Given the description of an element on the screen output the (x, y) to click on. 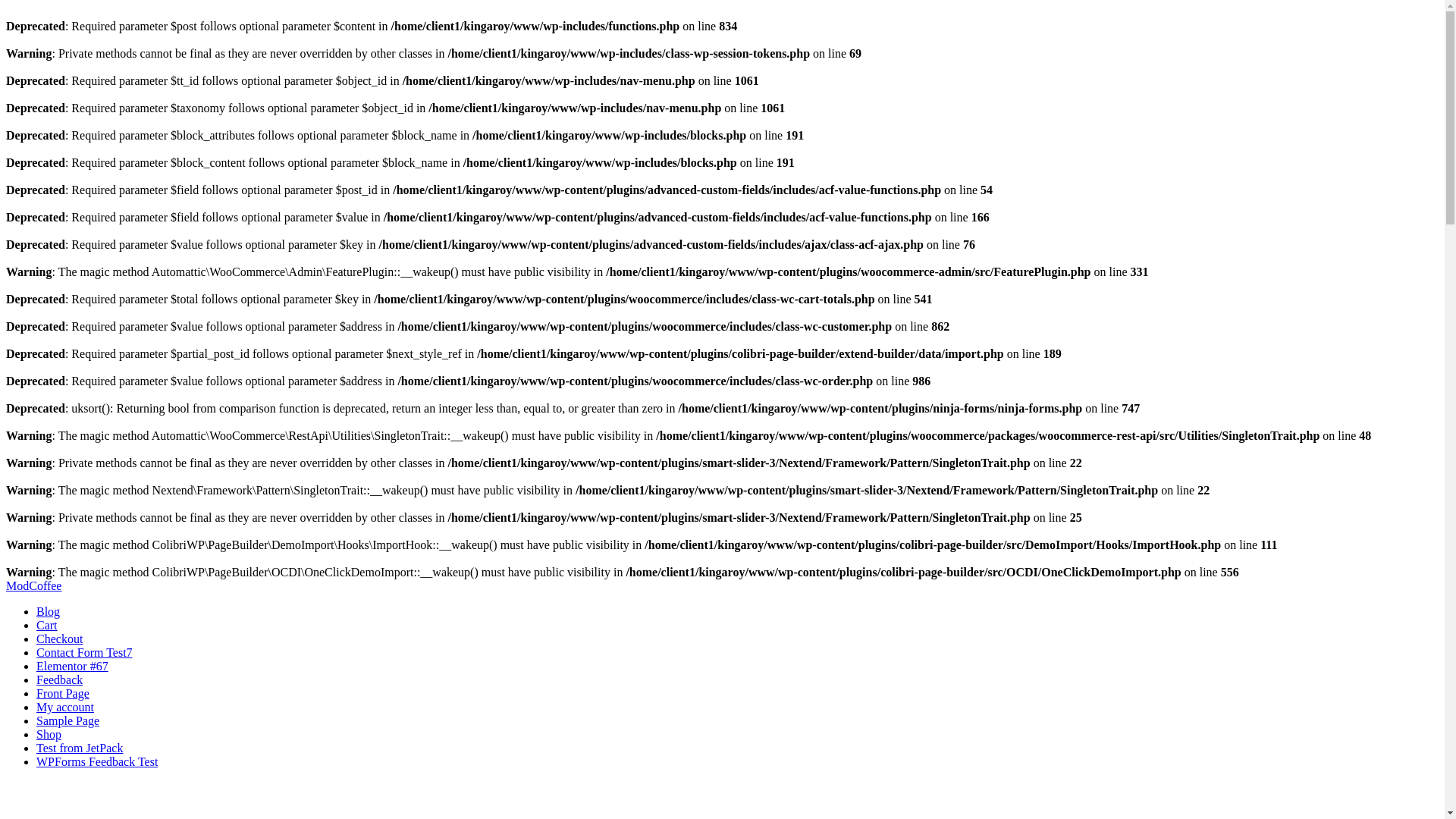
ModCoffee Element type: text (33, 585)
Front Page Element type: text (62, 693)
Blog Element type: text (47, 611)
Checkout Element type: text (59, 638)
Cart Element type: text (46, 624)
Shop Element type: text (48, 734)
Feedback Element type: text (59, 679)
My account Element type: text (65, 706)
Test from JetPack Element type: text (79, 747)
Sample Page Element type: text (67, 720)
Contact Form Test7 Element type: text (84, 652)
WPForms Feedback Test Element type: text (96, 761)
Elementor #67 Element type: text (72, 665)
Skip to content Element type: text (6, 579)
